Given the description of an element on the screen output the (x, y) to click on. 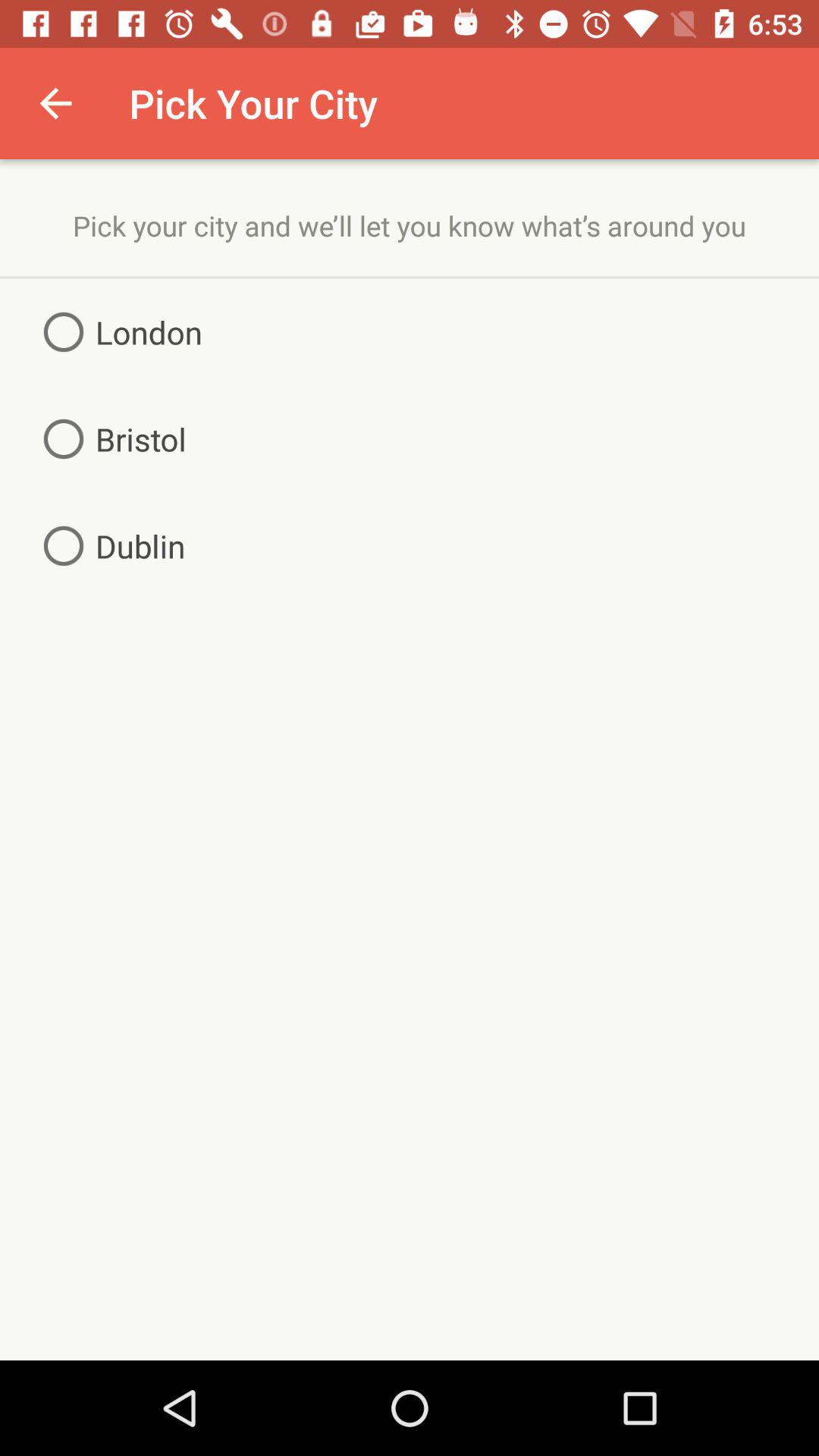
turn on the london (116, 331)
